Given the description of an element on the screen output the (x, y) to click on. 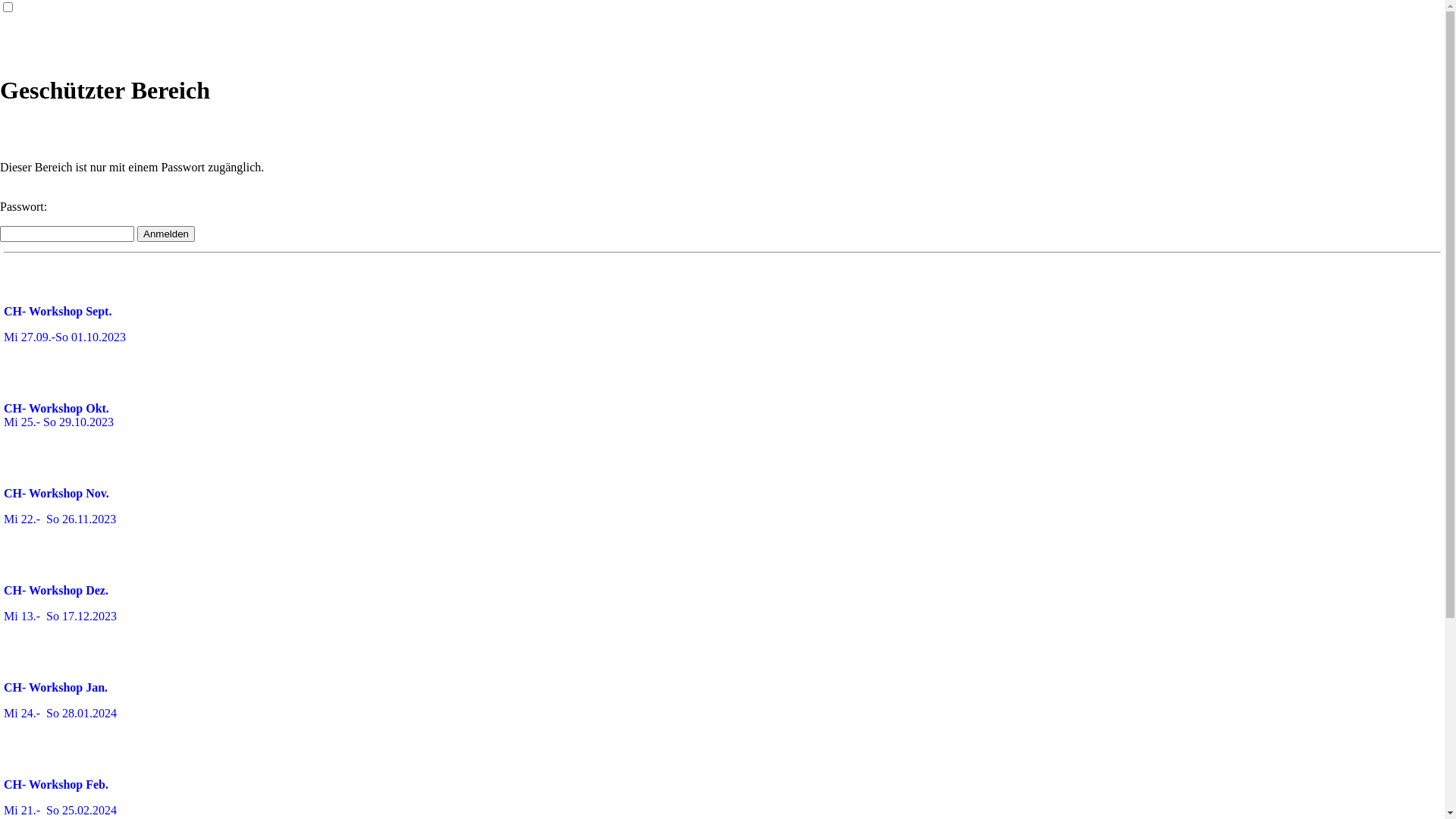
Anmelden Element type: text (165, 233)
